Given the description of an element on the screen output the (x, y) to click on. 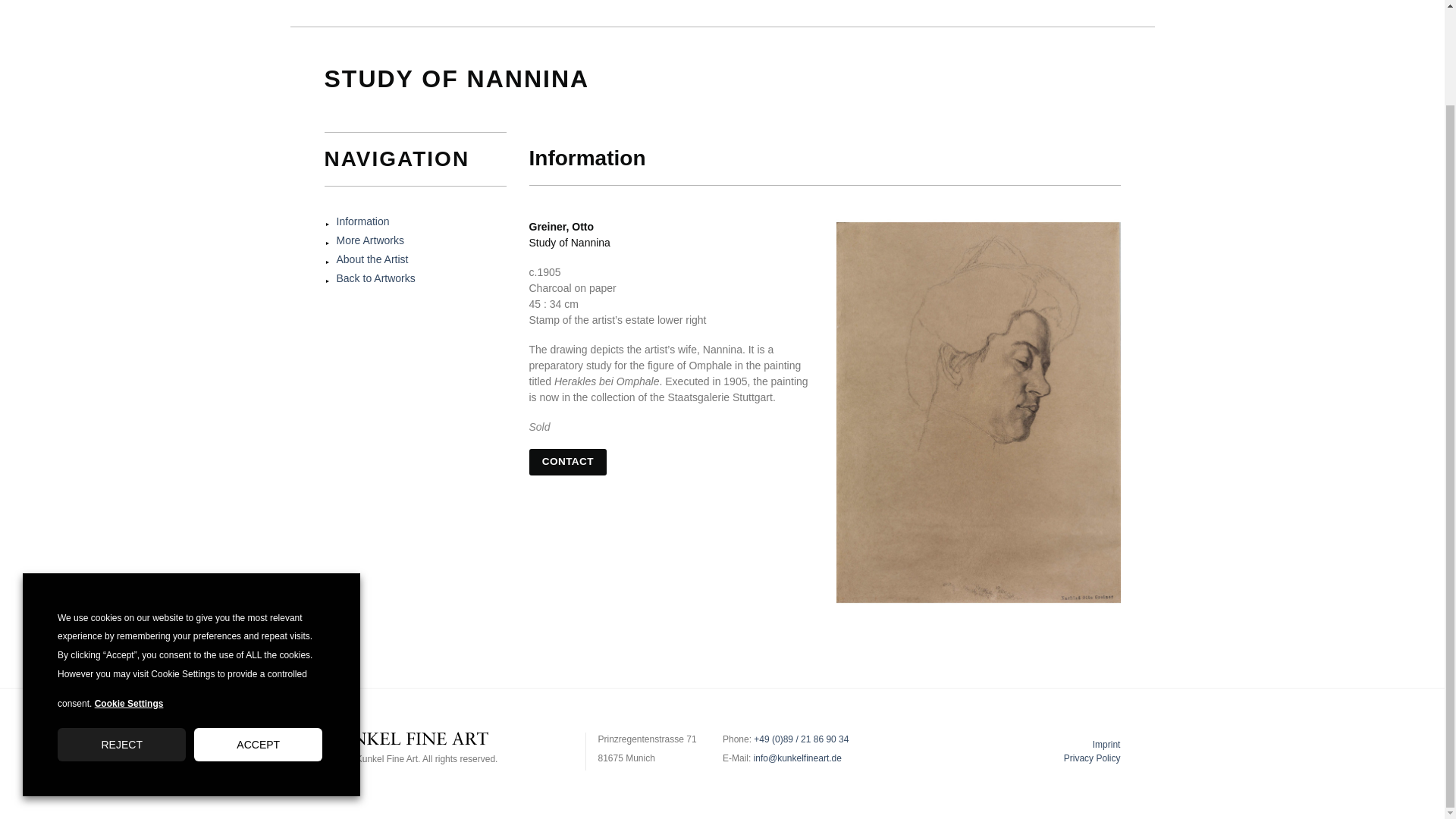
Imprint (1107, 744)
More Artworks (370, 240)
Information (363, 221)
Privacy Policy (1092, 757)
CONTACT (568, 461)
About the Artist (372, 259)
Back to Artworks (375, 277)
